Given the description of an element on the screen output the (x, y) to click on. 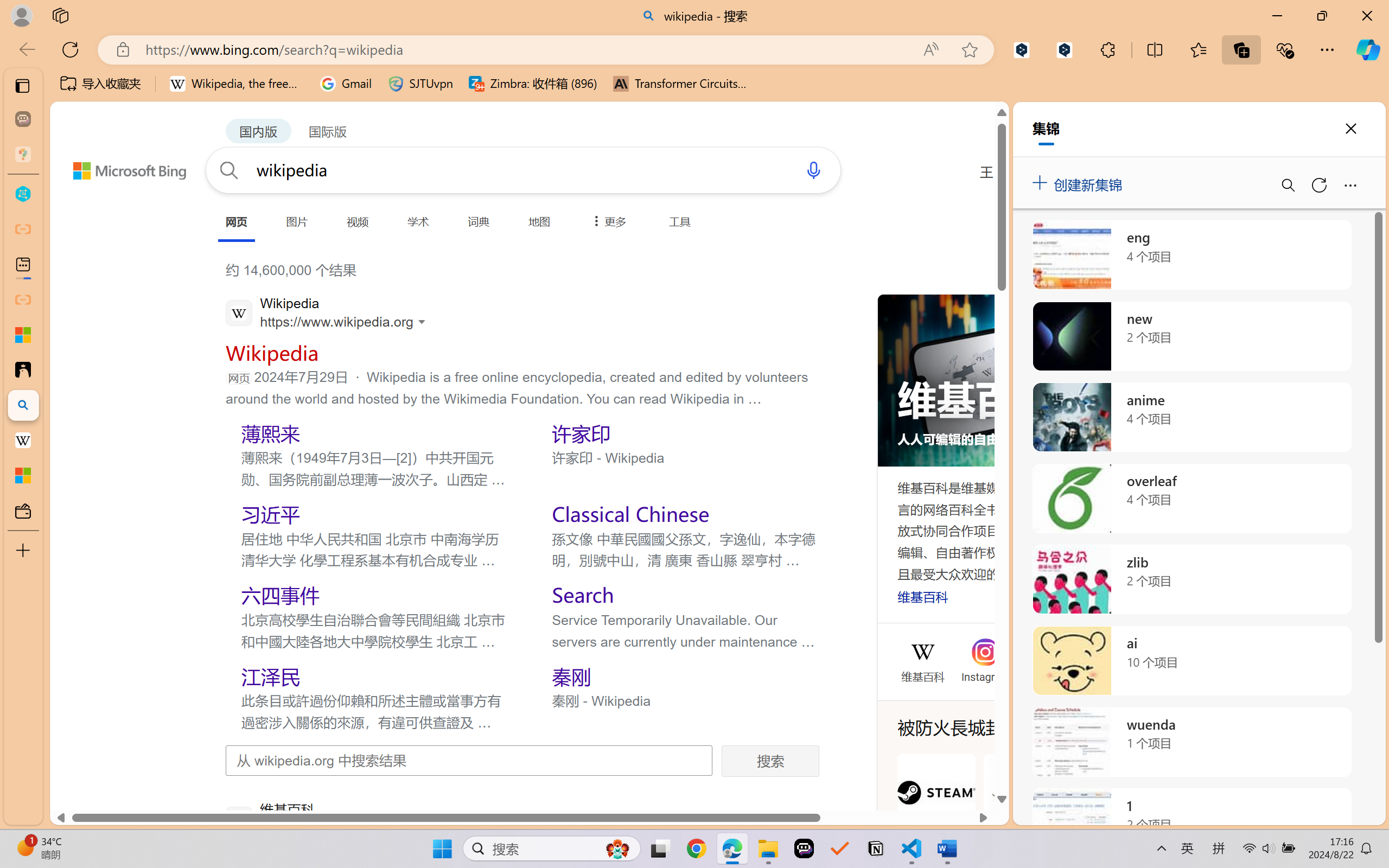
Classical Chinese (630, 514)
Dropdown Menu (606, 221)
